Given the description of an element on the screen output the (x, y) to click on. 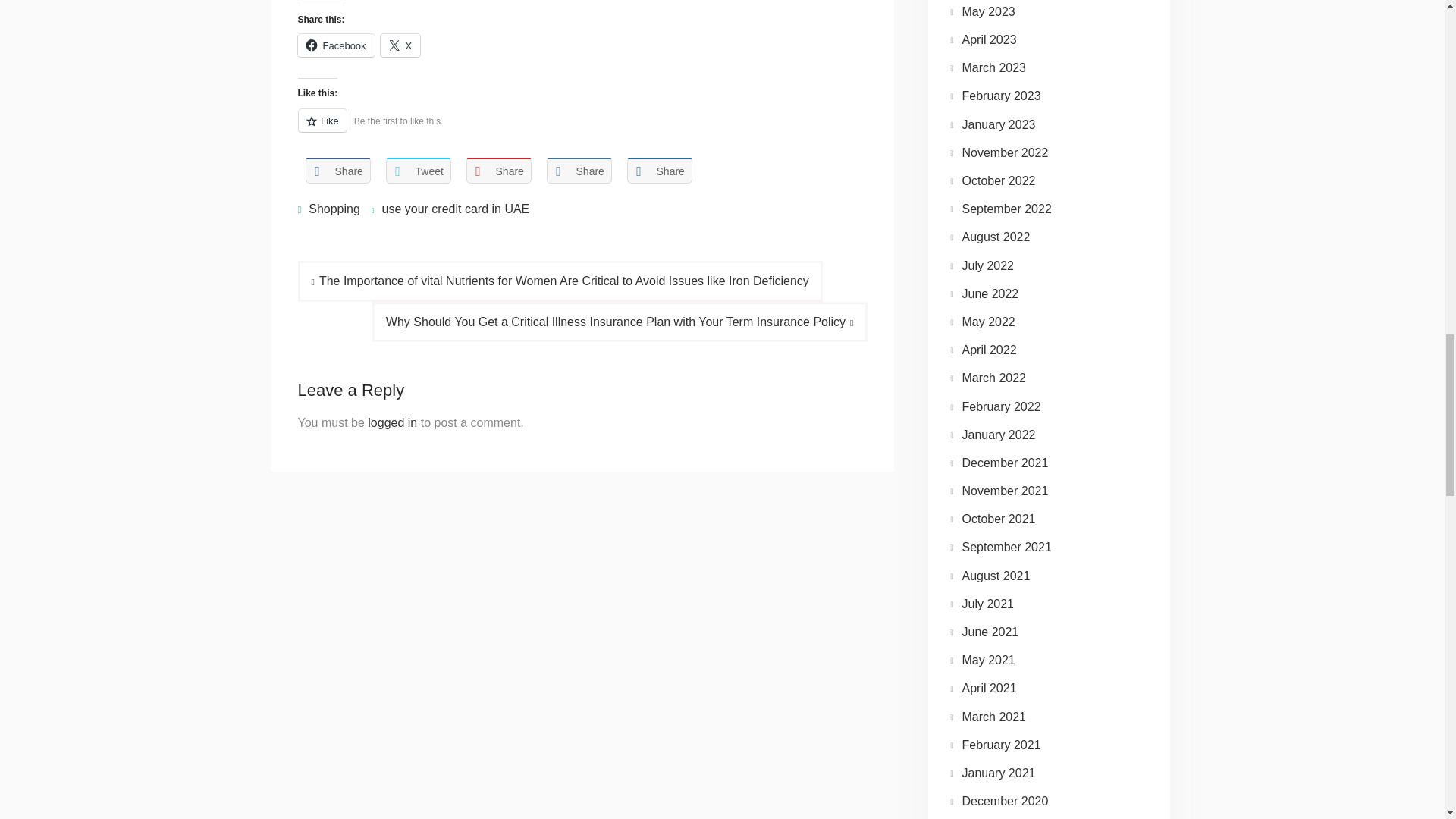
Click to share on X (400, 45)
Share (336, 171)
Shopping (333, 208)
Click to share on Facebook (335, 45)
Share on Pinterest (498, 171)
Share on Facebook (336, 171)
Share on Digg (658, 171)
Like or Reblog (581, 128)
Share on Twitter (417, 171)
use your credit card in UAE (455, 208)
Share (578, 171)
X (400, 45)
Share (498, 171)
